Given the description of an element on the screen output the (x, y) to click on. 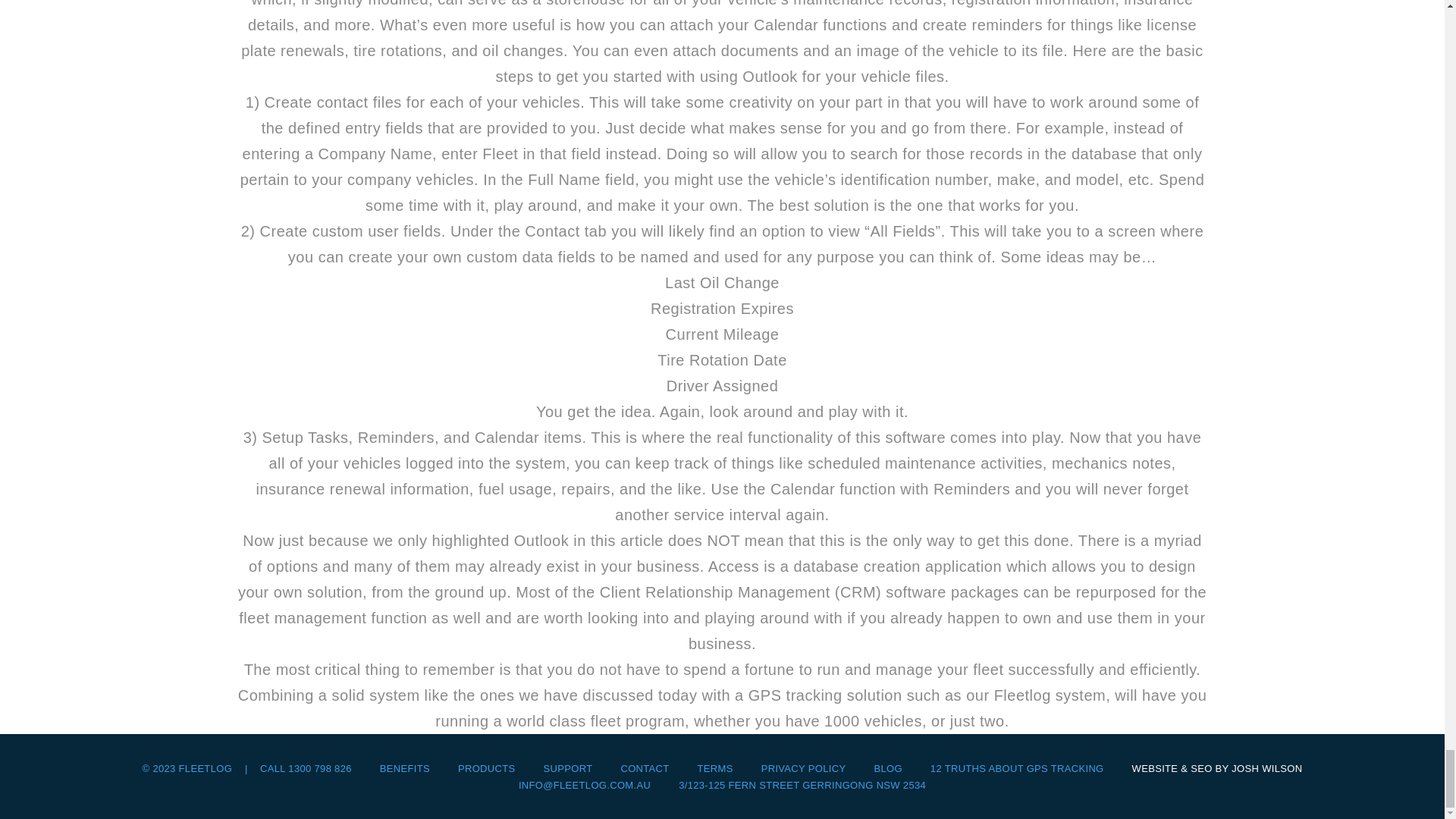
BENEFITS (404, 767)
SUPPORT (567, 767)
PRODUCTS (486, 767)
1300 798 826 (319, 767)
CONTACT (644, 767)
TERMS (715, 767)
GPS tracking solution (825, 695)
